Given the description of an element on the screen output the (x, y) to click on. 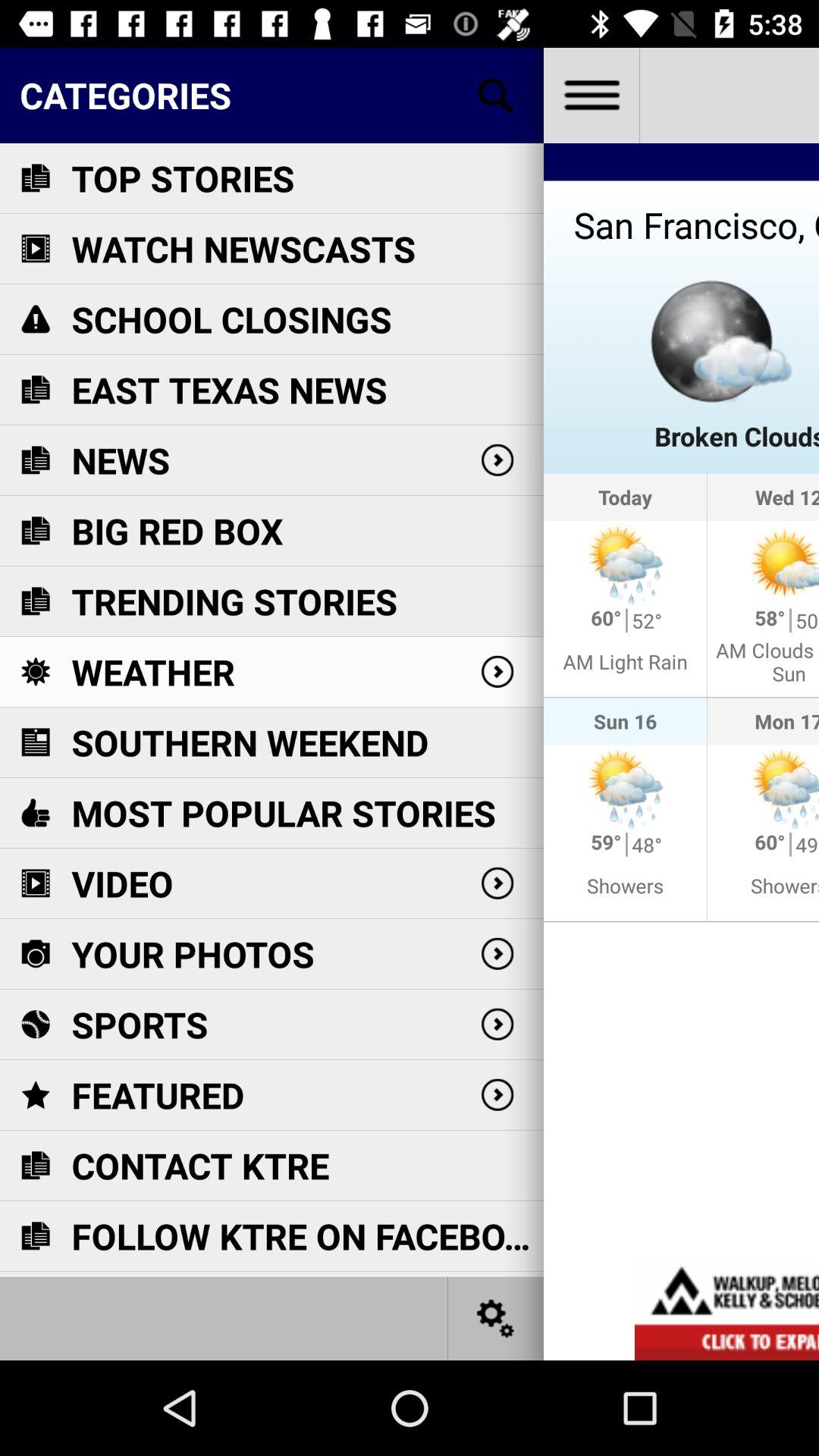
go to advertisement (726, 1310)
